Given the description of an element on the screen output the (x, y) to click on. 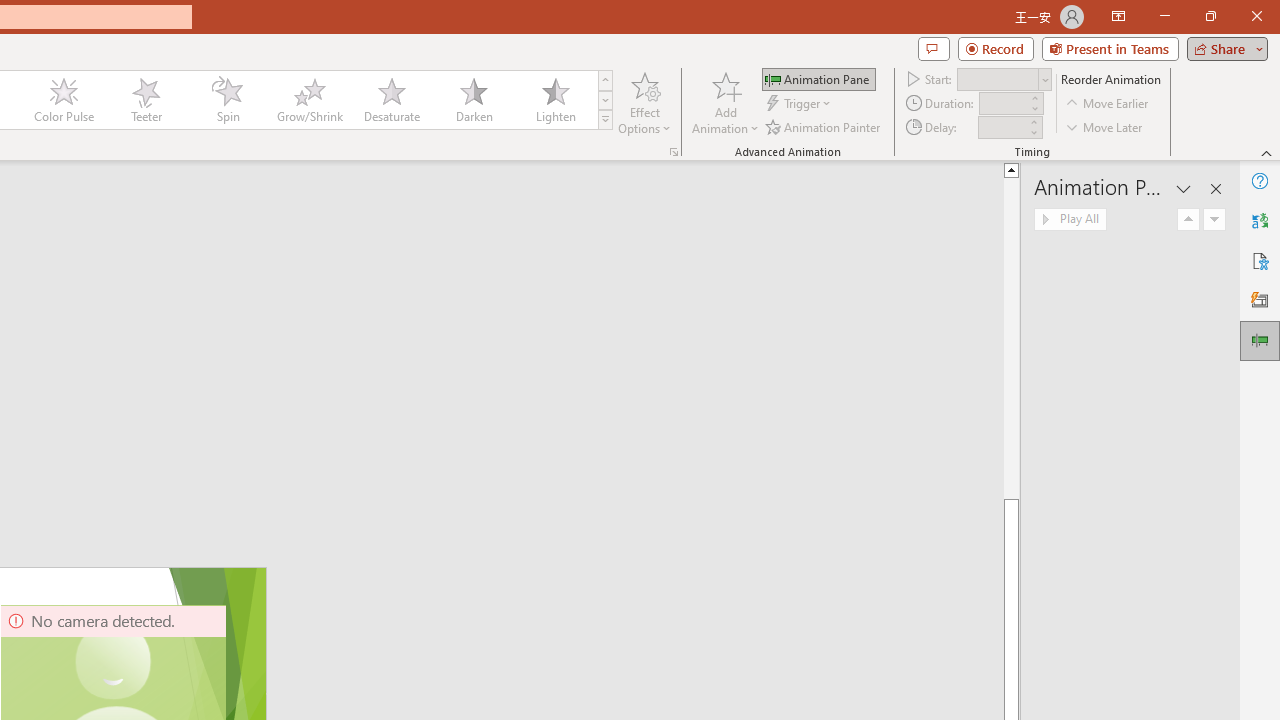
Animation Duration (1003, 103)
Animation Delay (1002, 127)
Animation Pane (818, 78)
Add Animation (725, 102)
Trigger (799, 103)
Animation Styles (605, 120)
